Given the description of an element on the screen output the (x, y) to click on. 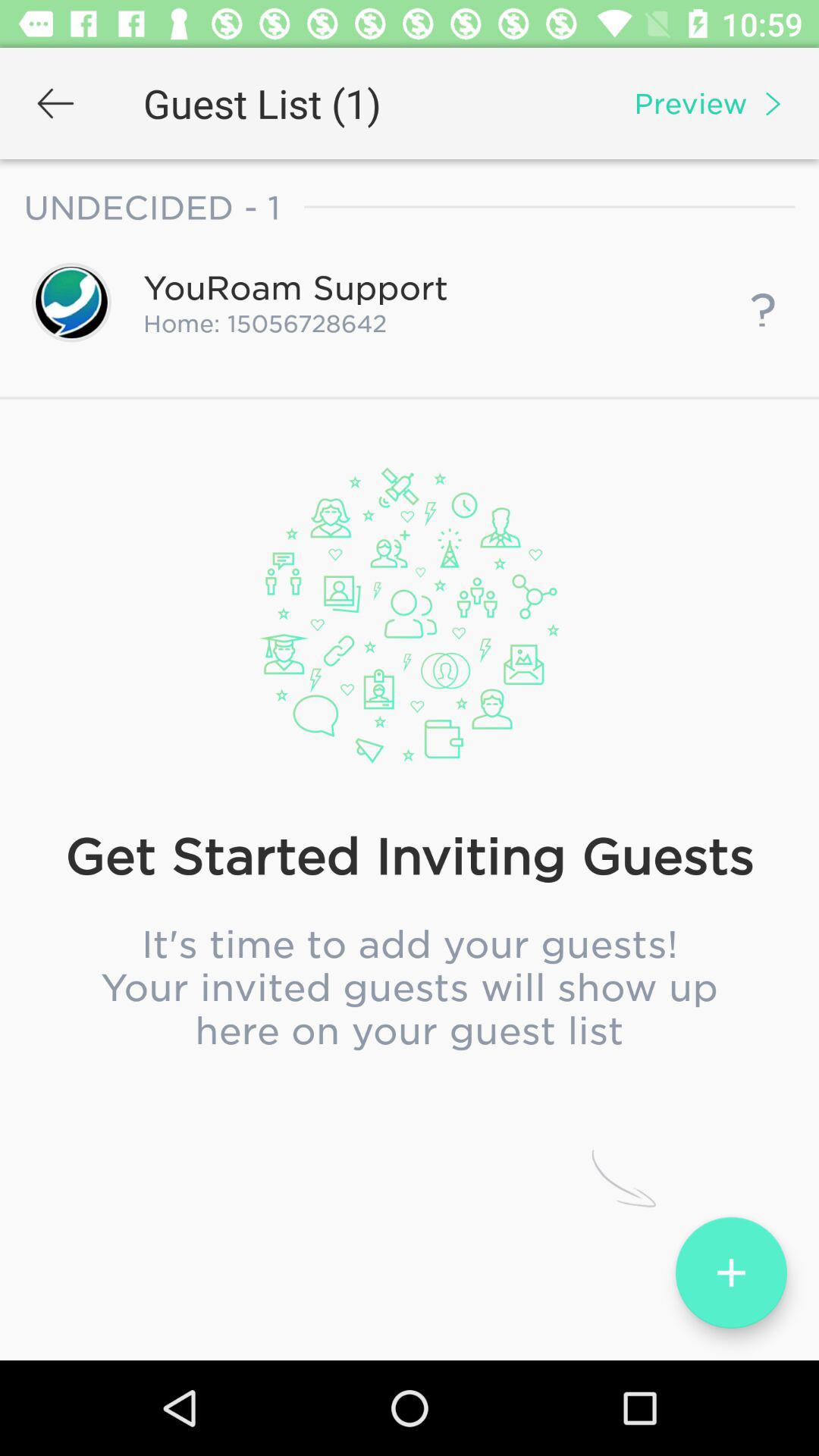
click ? (763, 302)
